Given the description of an element on the screen output the (x, y) to click on. 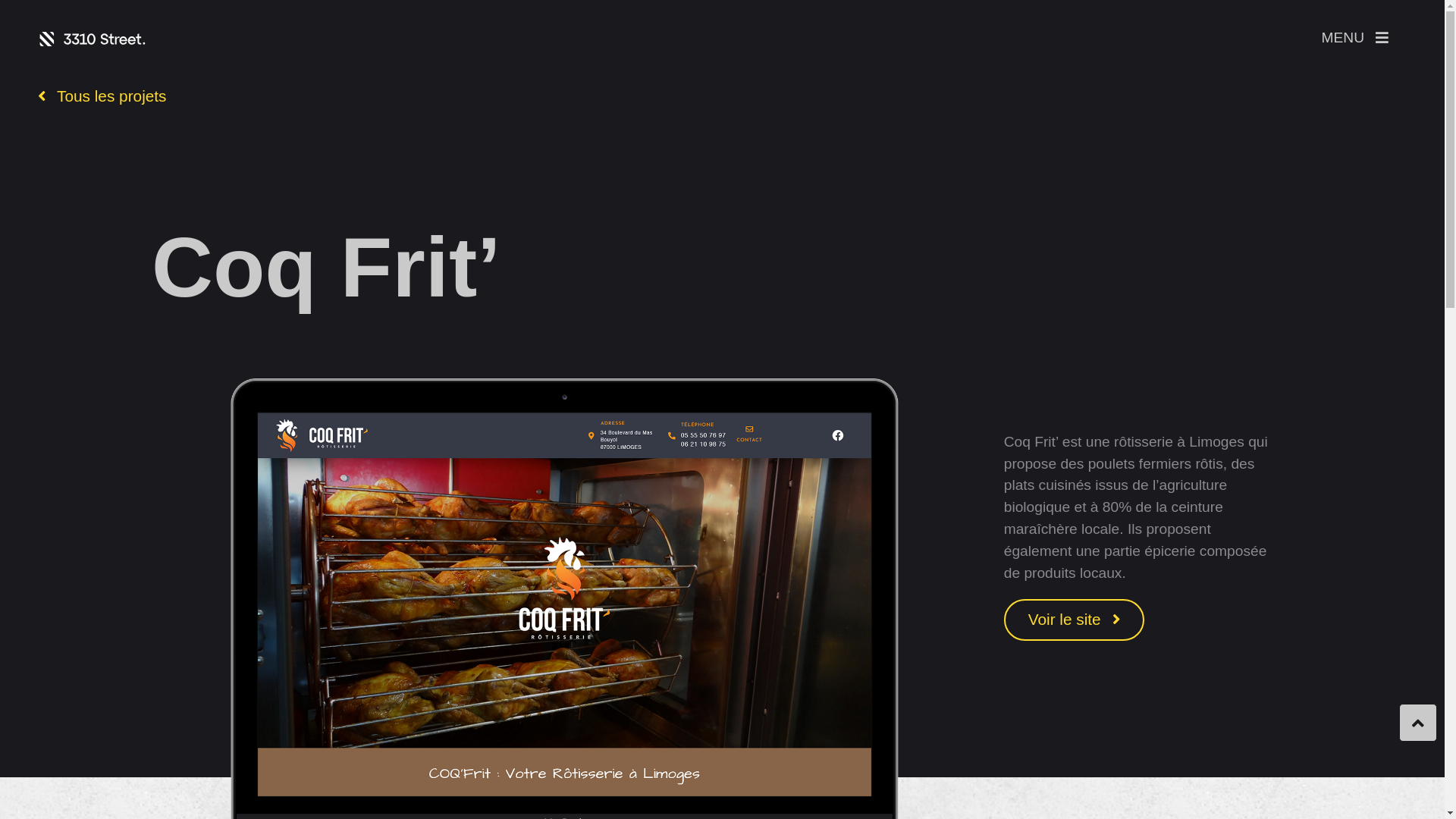
Tous les projets Element type: text (102, 96)
Voir le site Element type: text (1074, 619)
MENU Element type: text (1354, 37)
